Given the description of an element on the screen output the (x, y) to click on. 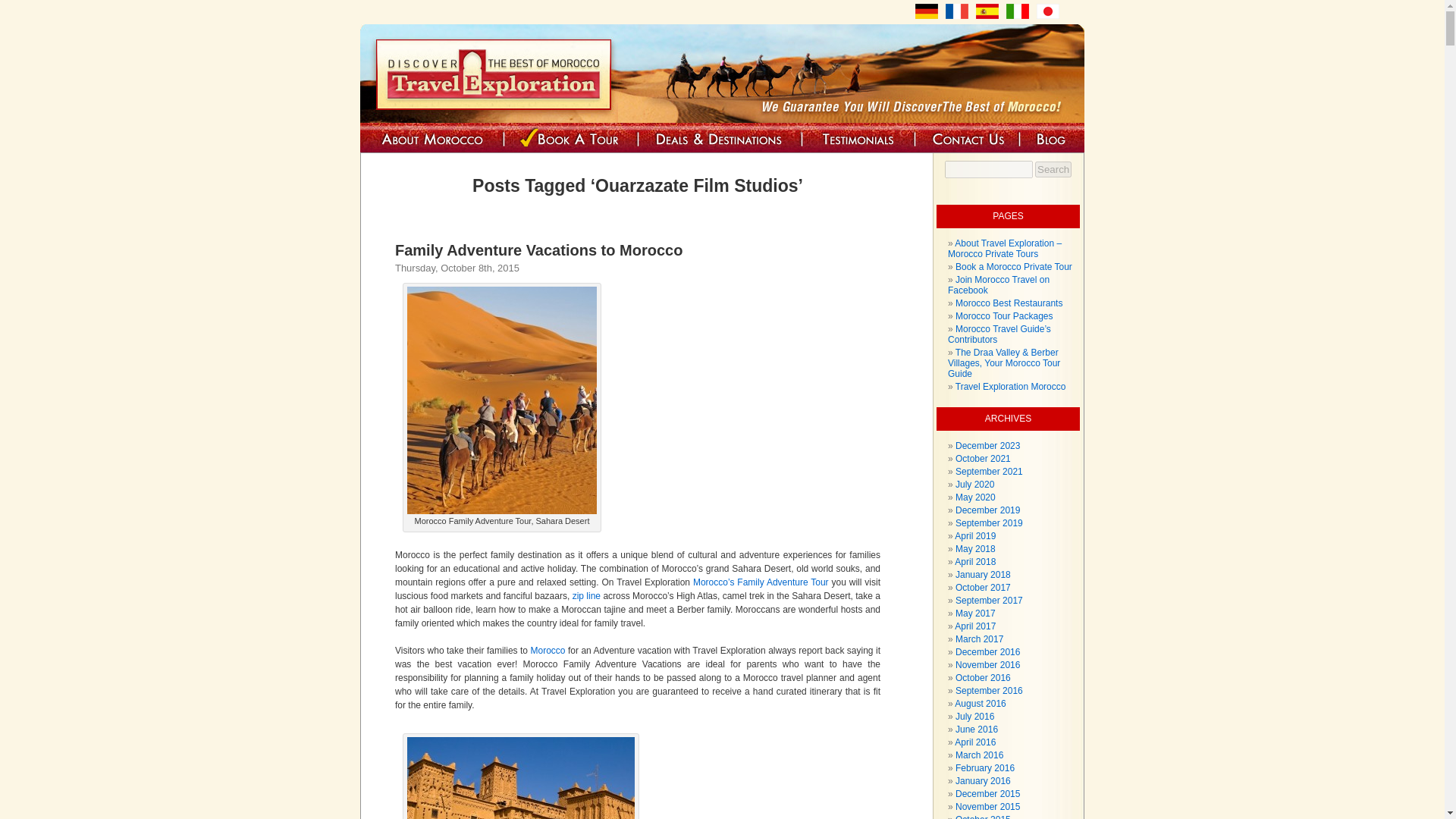
Family Adventure Vacations to Morocco (538, 249)
Morocco (548, 650)
Permanent Link to Family Adventure Vacations to Morocco (538, 249)
zip line (585, 595)
